Given the description of an element on the screen output the (x, y) to click on. 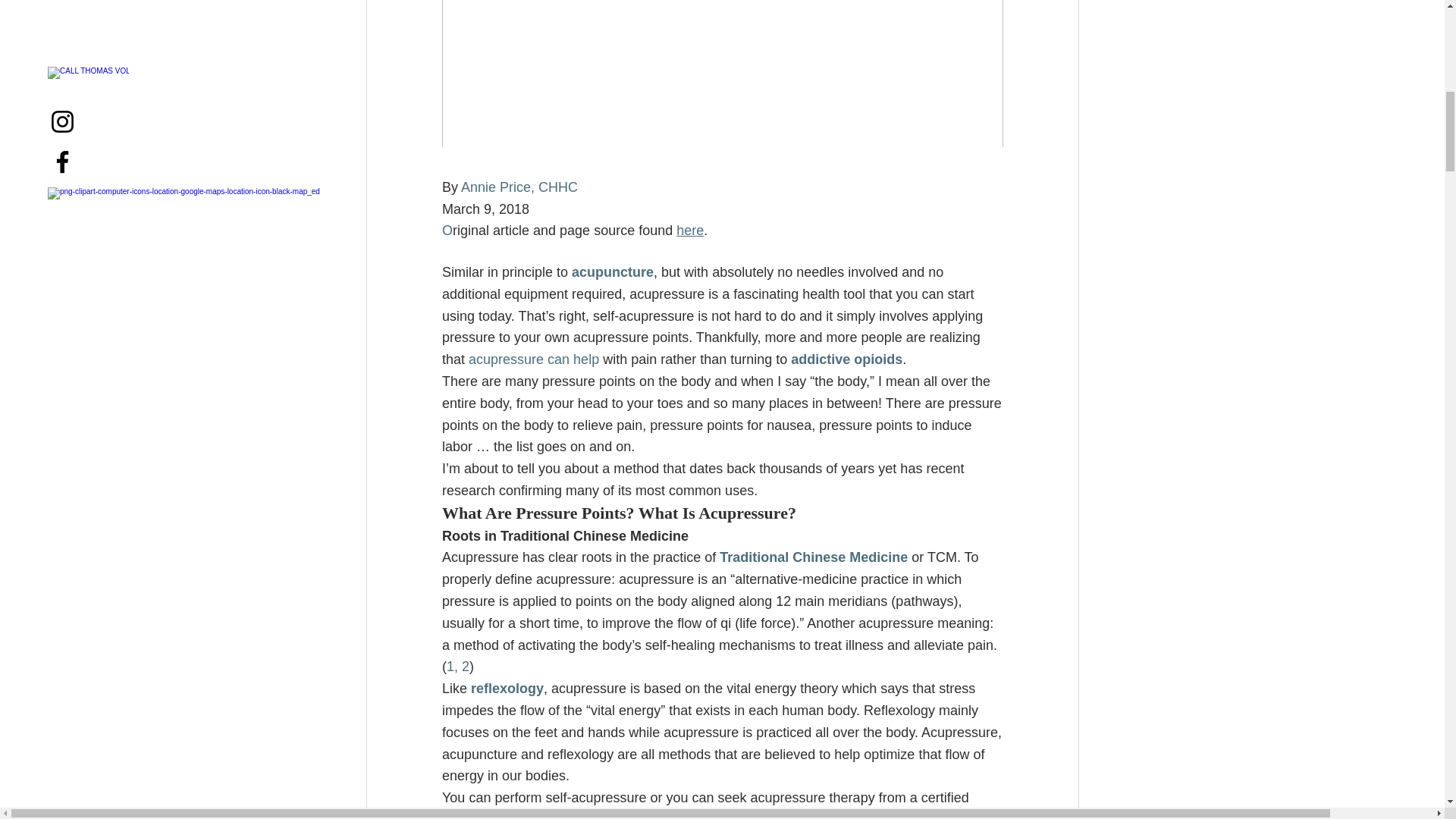
O (446, 230)
Annie Price, CHHC (519, 186)
here (690, 230)
2 (464, 666)
Traditional Chinese Medicine (813, 557)
acupuncture (612, 272)
acupressure can help (533, 359)
addictive opioids (846, 359)
reflexology (506, 688)
1, (451, 666)
